Given the description of an element on the screen output the (x, y) to click on. 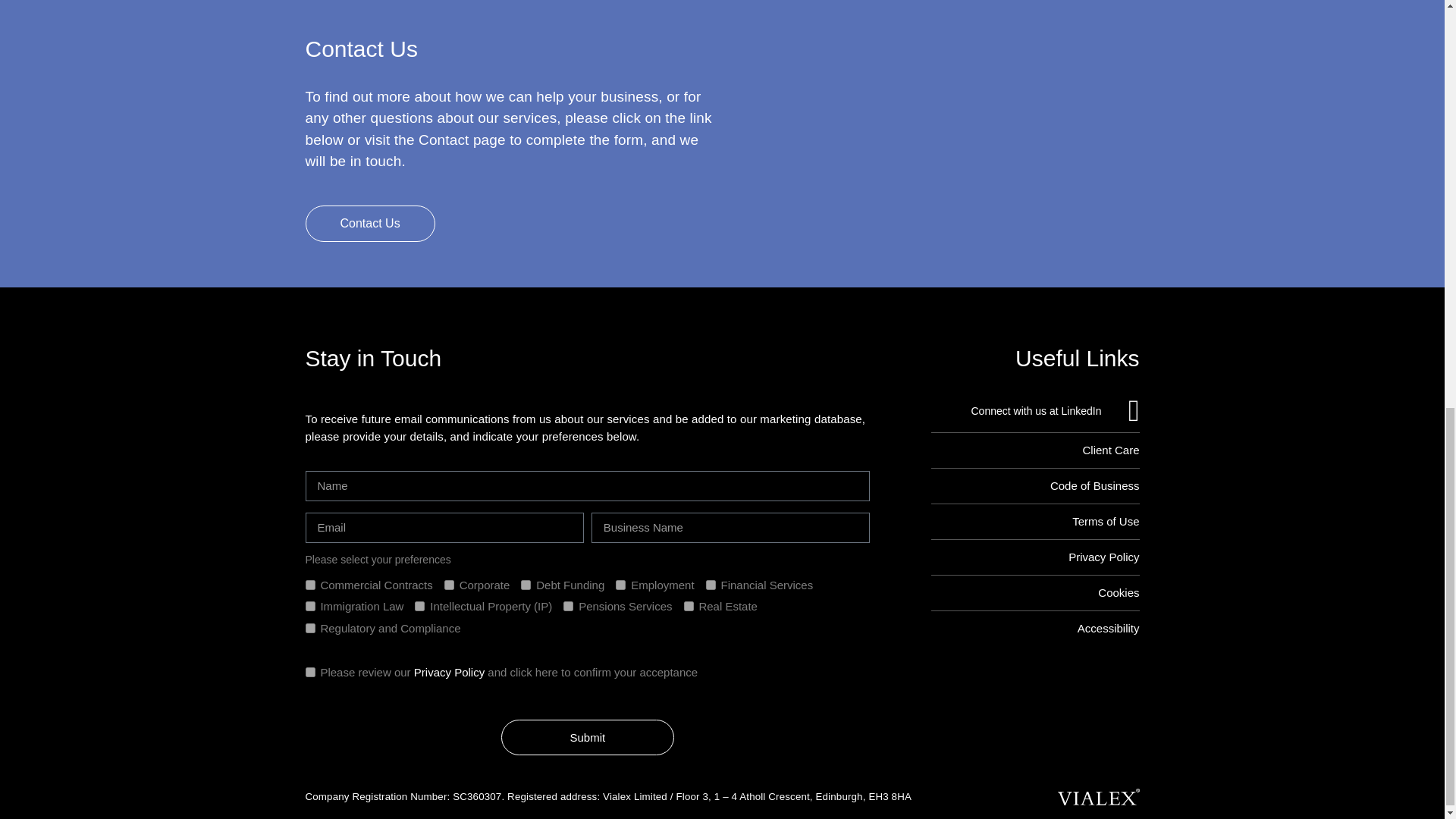
Cookies (1035, 592)
 fre (689, 605)
Privacy Policy (1035, 556)
 fps (568, 605)
Submit (587, 737)
on (309, 672)
Connect with us at LinkedIn (1035, 410)
Privacy Policy (448, 671)
 fil (309, 605)
Client Care (1035, 449)
Accessibility (1035, 628)
 fc (449, 584)
Code of Business (1035, 485)
 ffs (711, 584)
 fdf (526, 584)
